Given the description of an element on the screen output the (x, y) to click on. 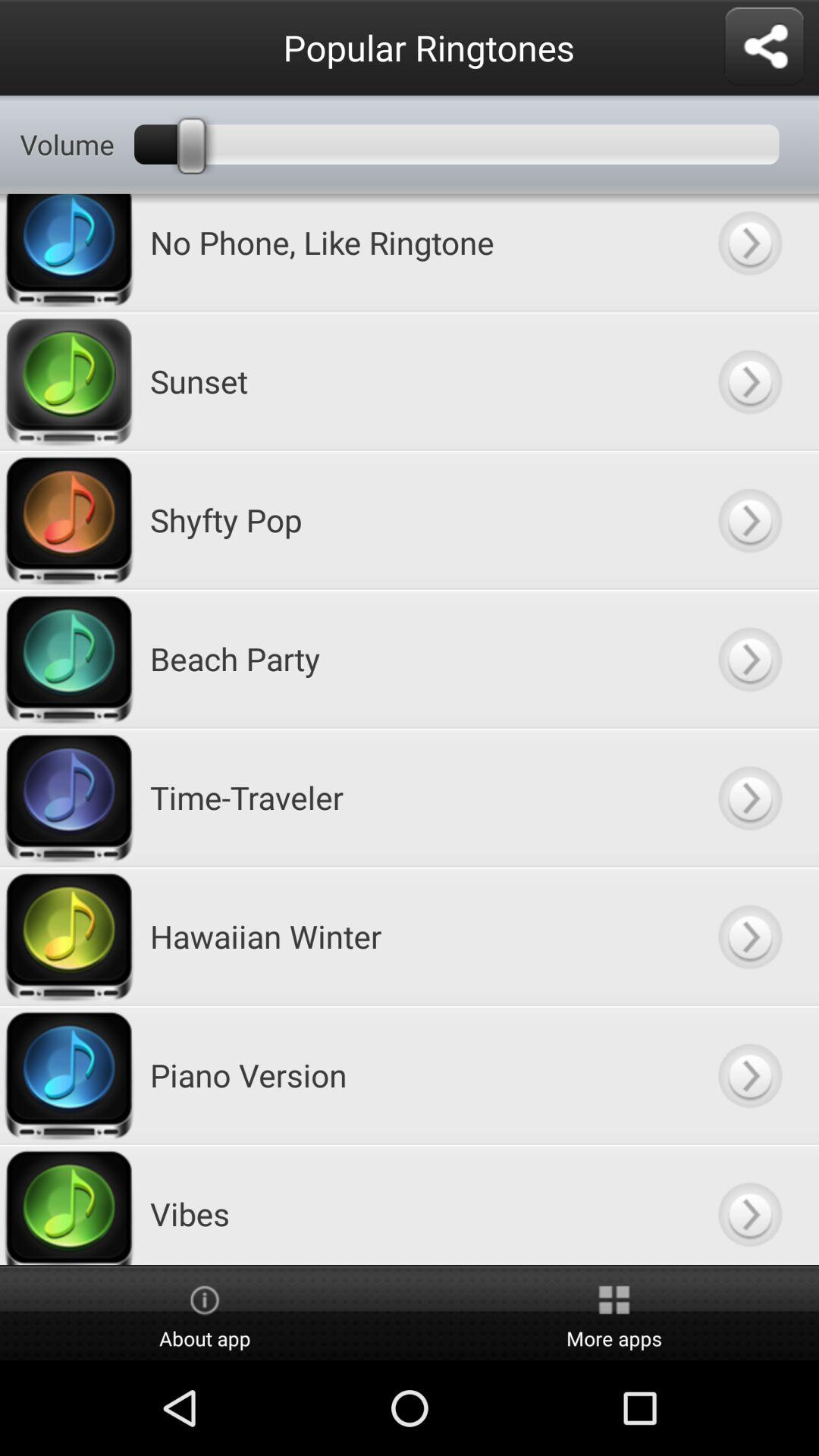
play (749, 658)
